Given the description of an element on the screen output the (x, y) to click on. 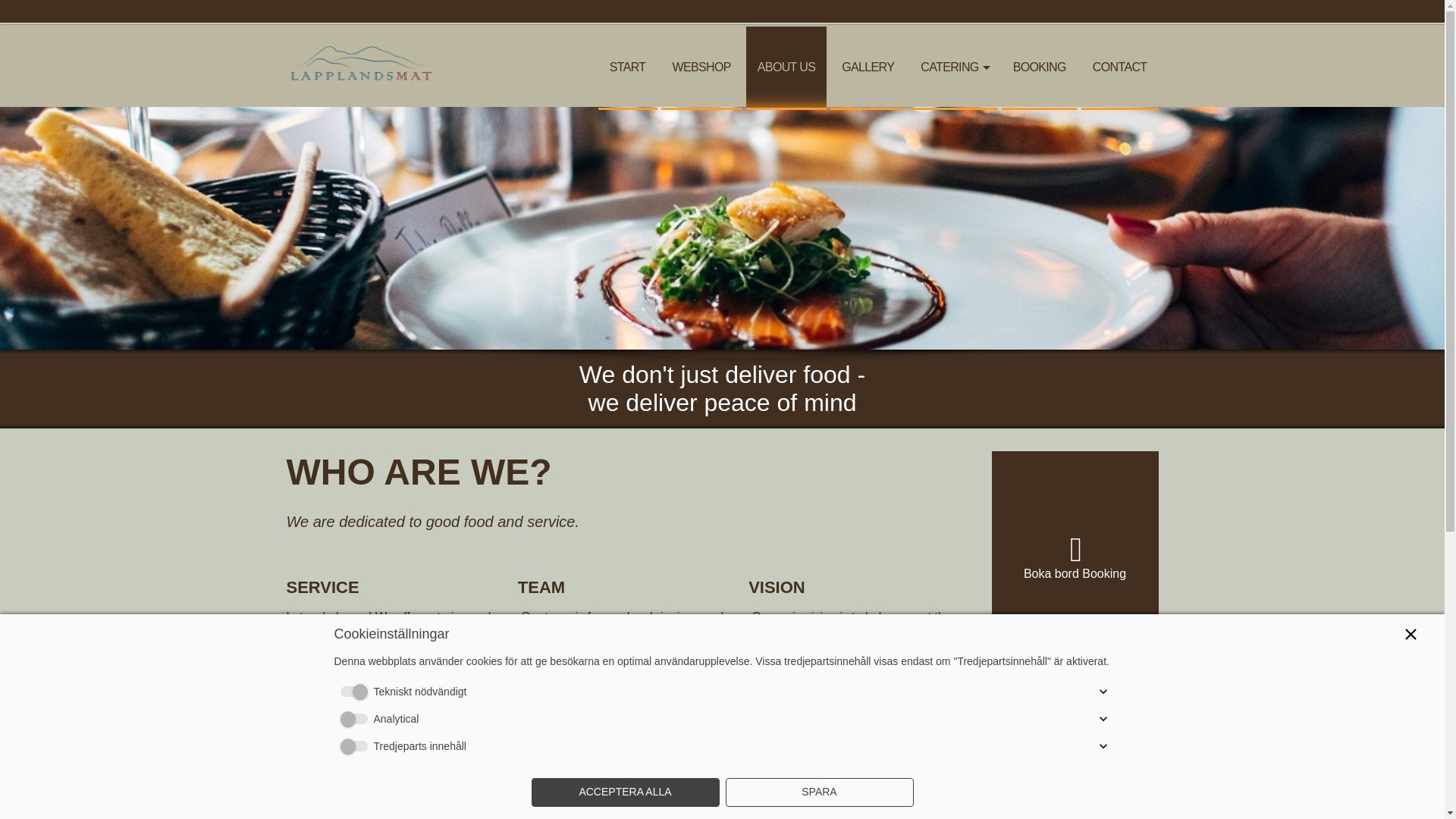
GALLERY (867, 67)
Gallery (867, 67)
CATERING (952, 67)
Contact (1119, 67)
WEBSHOP (701, 67)
Webshop (701, 67)
CONTACT (1119, 67)
BOOKING (1039, 67)
Booking (1039, 67)
Catering (952, 67)
ABOUT US (786, 67)
About us (786, 67)
